Given the description of an element on the screen output the (x, y) to click on. 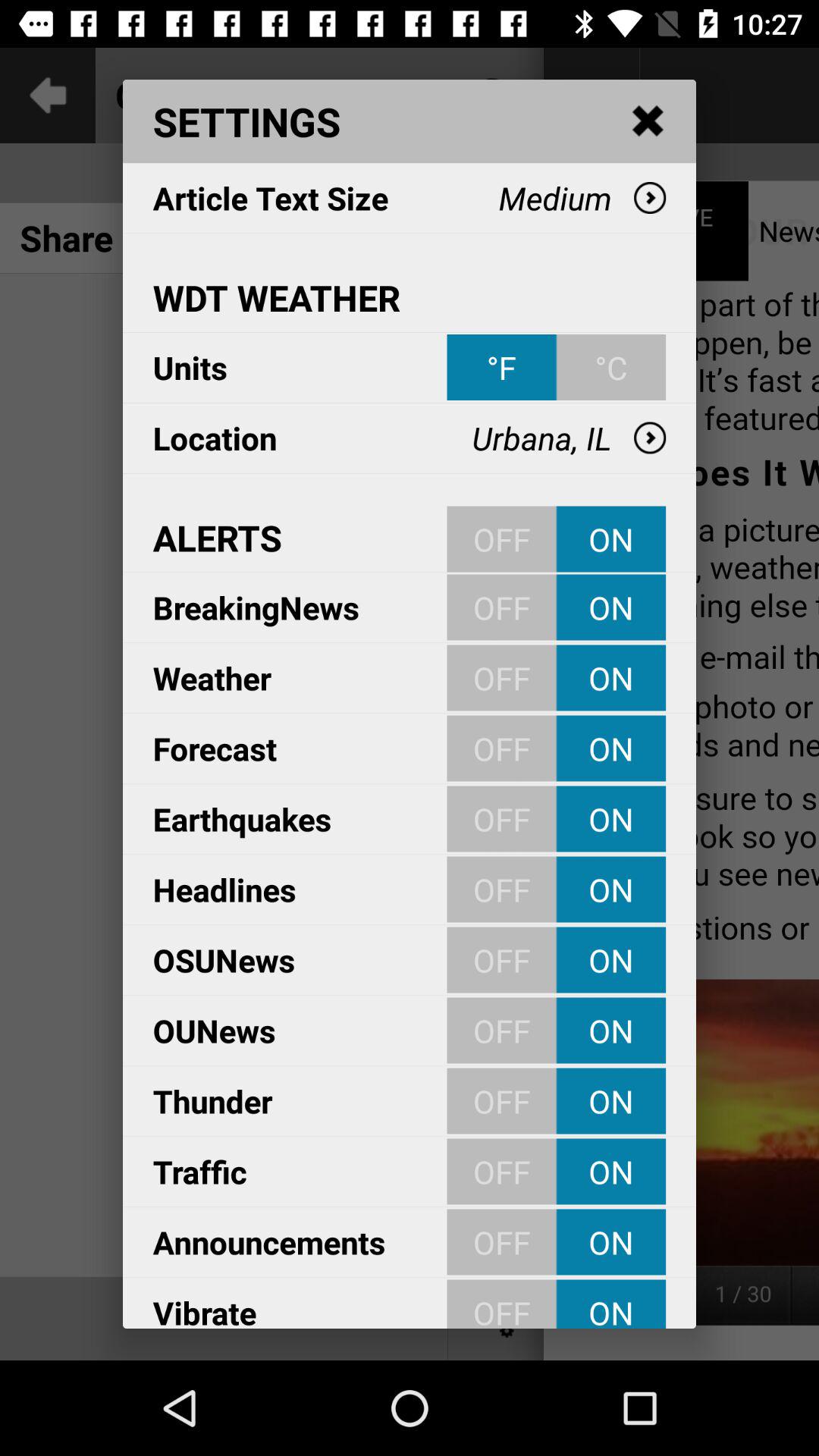
close this tab (648, 121)
